Given the description of an element on the screen output the (x, y) to click on. 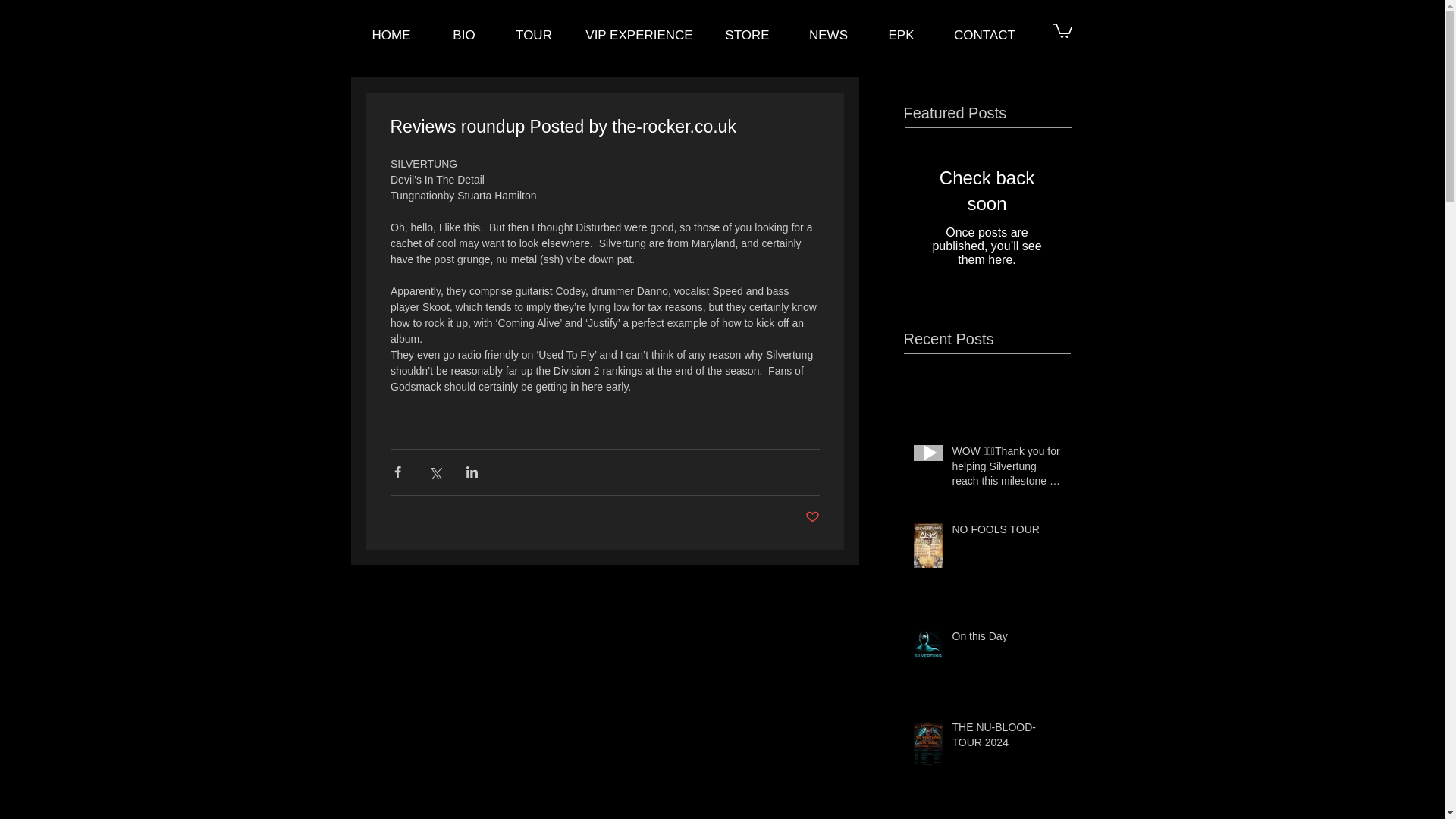
BIO (464, 34)
NEWS (828, 34)
EPK (901, 34)
On this Day (1006, 639)
Post not marked as liked (812, 517)
VIP EXPERIENCE (639, 34)
HOME (390, 34)
TOUR (533, 34)
NO FOOLS TOUR (1006, 532)
THE NU-BLOOD-TOUR 2024 (1006, 737)
